Given the description of an element on the screen output the (x, y) to click on. 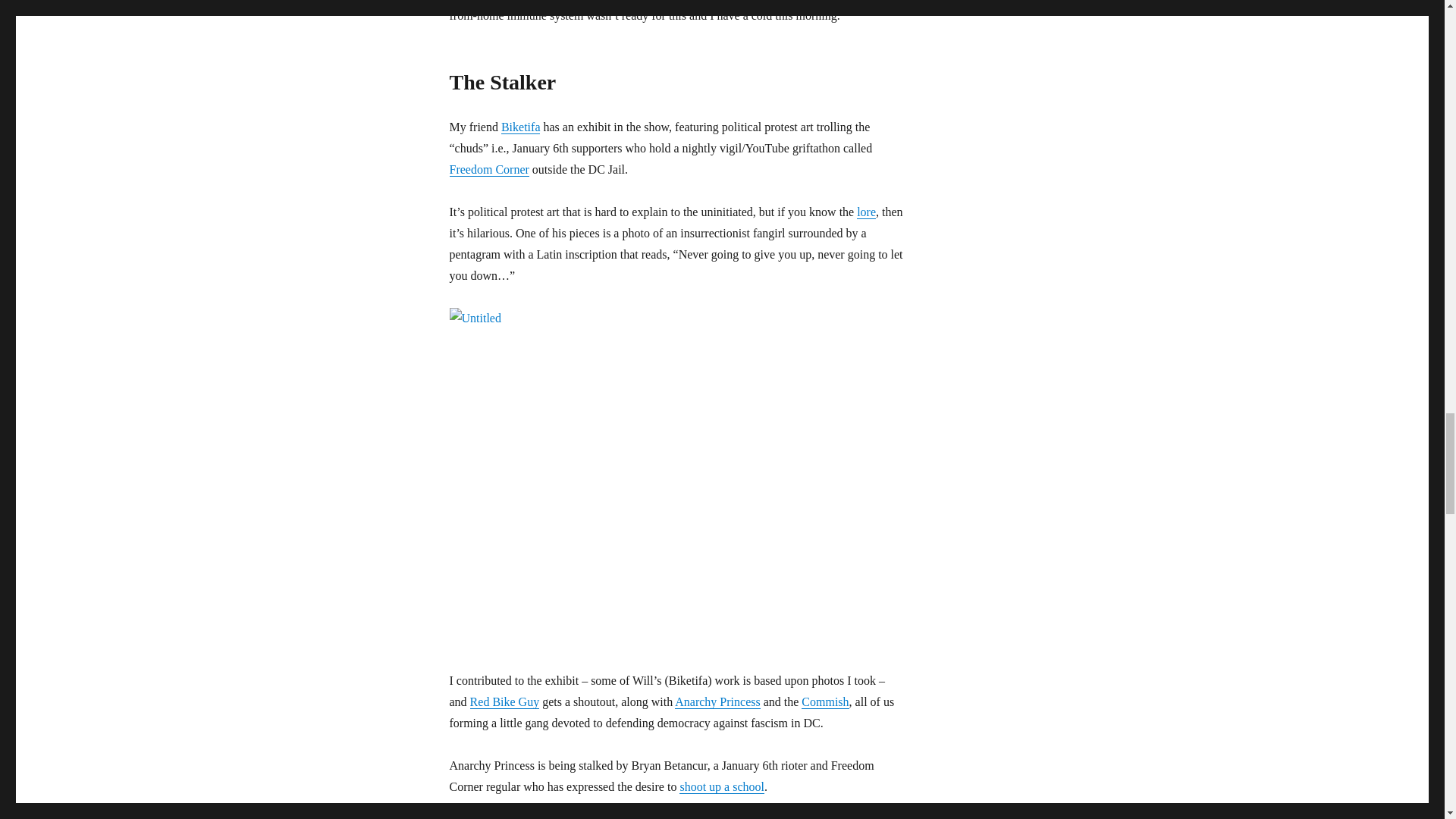
Commish (825, 701)
Anarchy Princess (717, 701)
lore (866, 211)
Freedom Corner (488, 169)
Red Bike Guy (505, 701)
Biketifa (520, 126)
shoot up a school (721, 786)
